Given the description of an element on the screen output the (x, y) to click on. 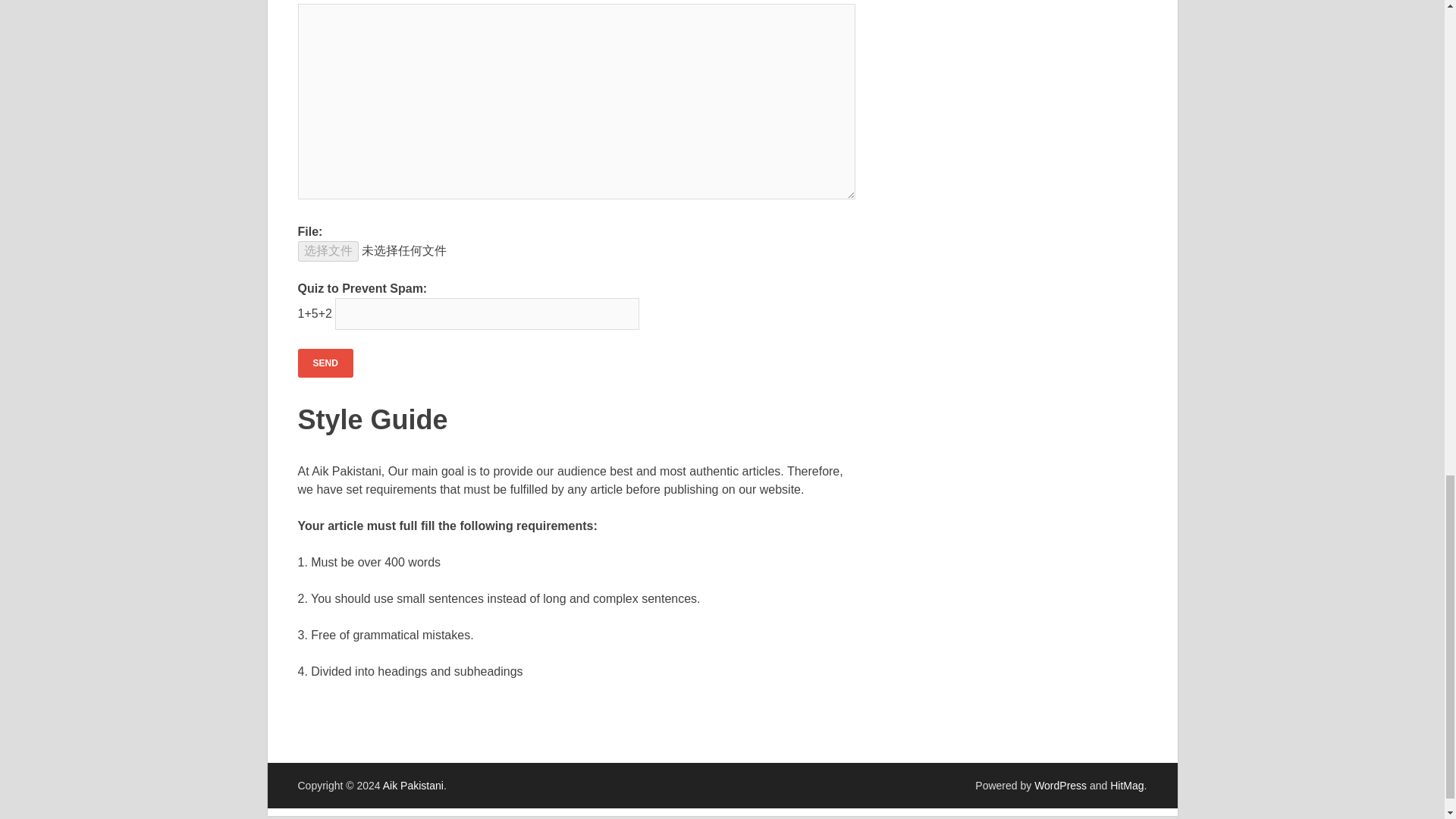
Send (324, 362)
Aik Pakistani (413, 785)
HitMag WordPress Theme (1125, 785)
Send (324, 362)
WordPress (1059, 785)
